Given the description of an element on the screen output the (x, y) to click on. 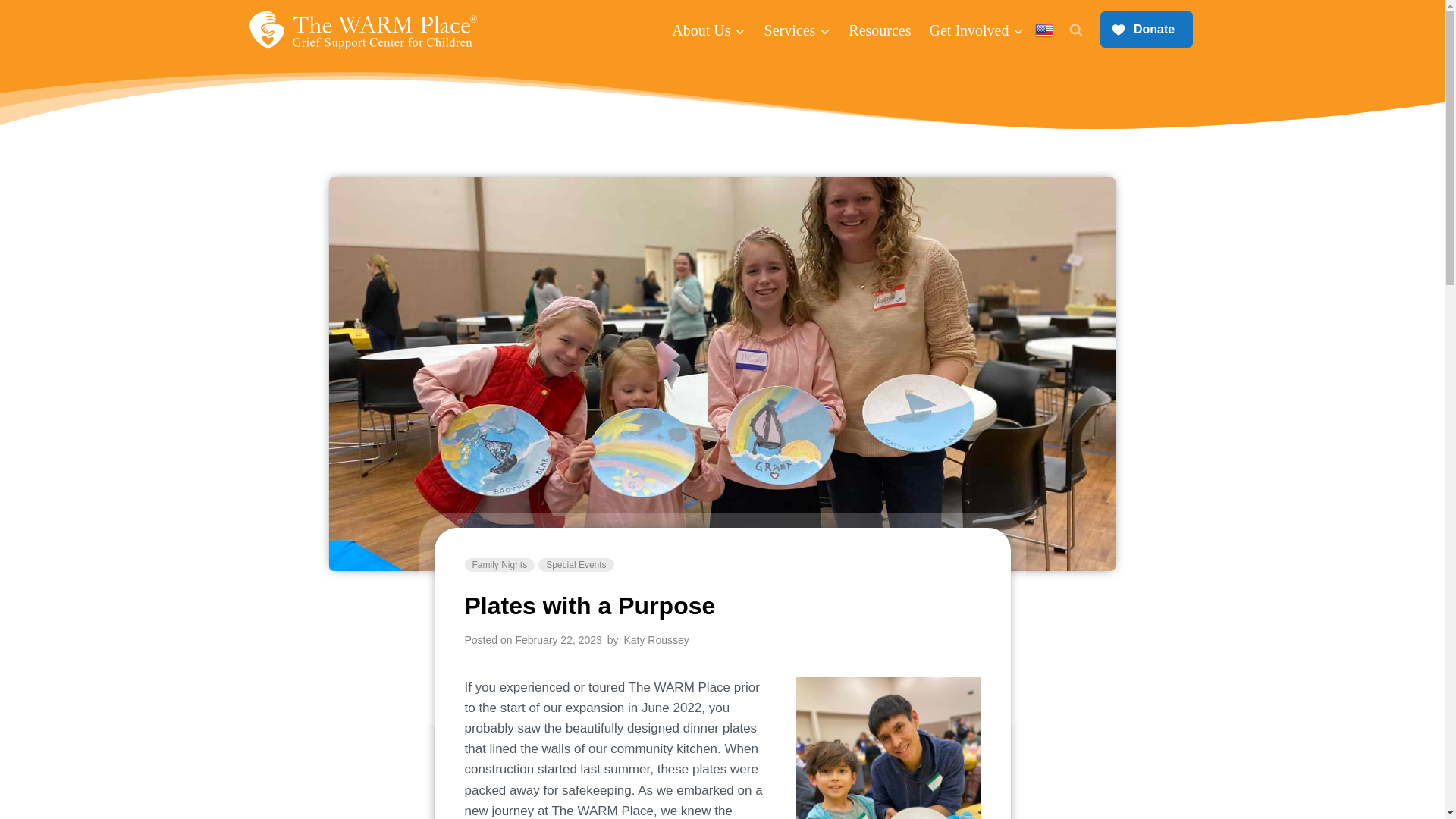
Family Nights (499, 564)
About Us (708, 30)
Donate Button (1145, 30)
Resources (880, 30)
Katy Roussey (655, 639)
Special Events (575, 564)
Services (797, 30)
Get Involved (976, 30)
